Given the description of an element on the screen output the (x, y) to click on. 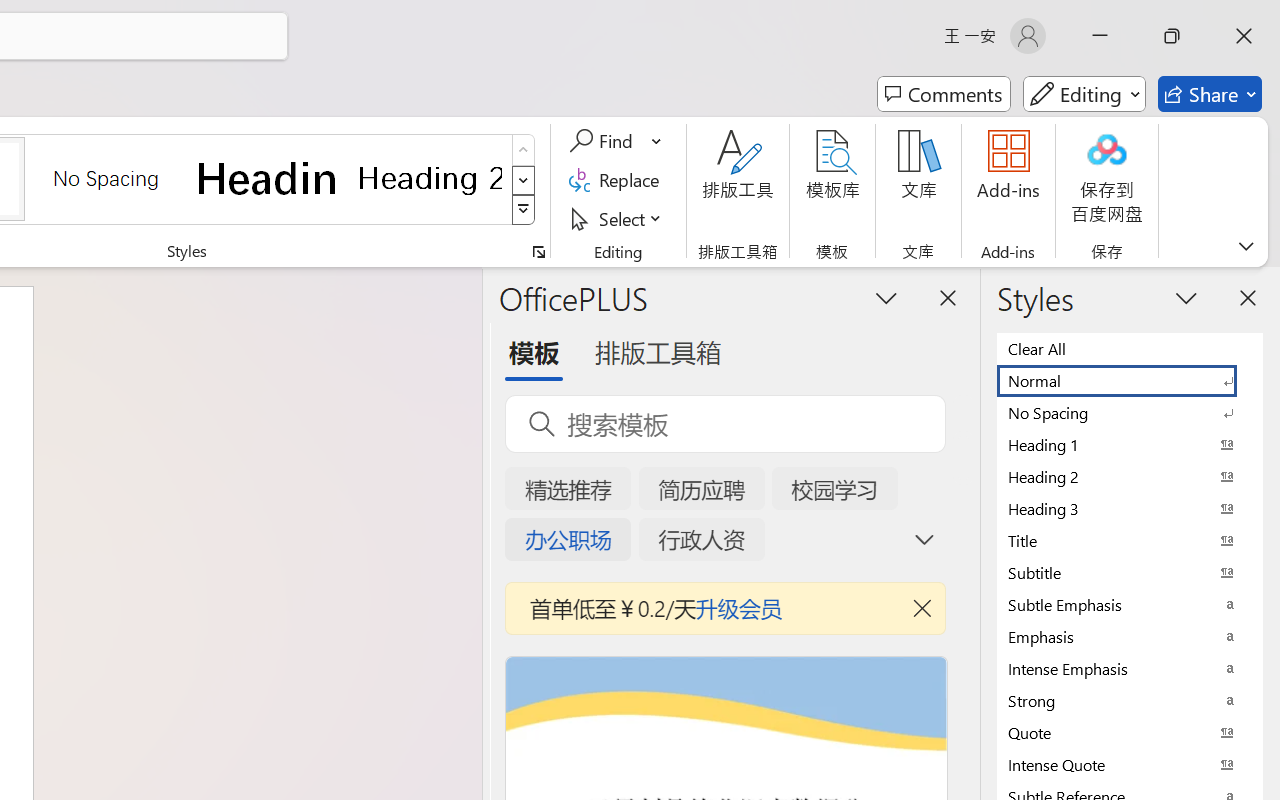
Find (604, 141)
Normal (1130, 380)
Row up (523, 150)
Close (1244, 36)
Quote (1130, 732)
Title (1130, 540)
Restore Down (1172, 36)
Strong (1130, 700)
Styles (523, 209)
Intense Emphasis (1130, 668)
Emphasis (1130, 636)
